Given the description of an element on the screen output the (x, y) to click on. 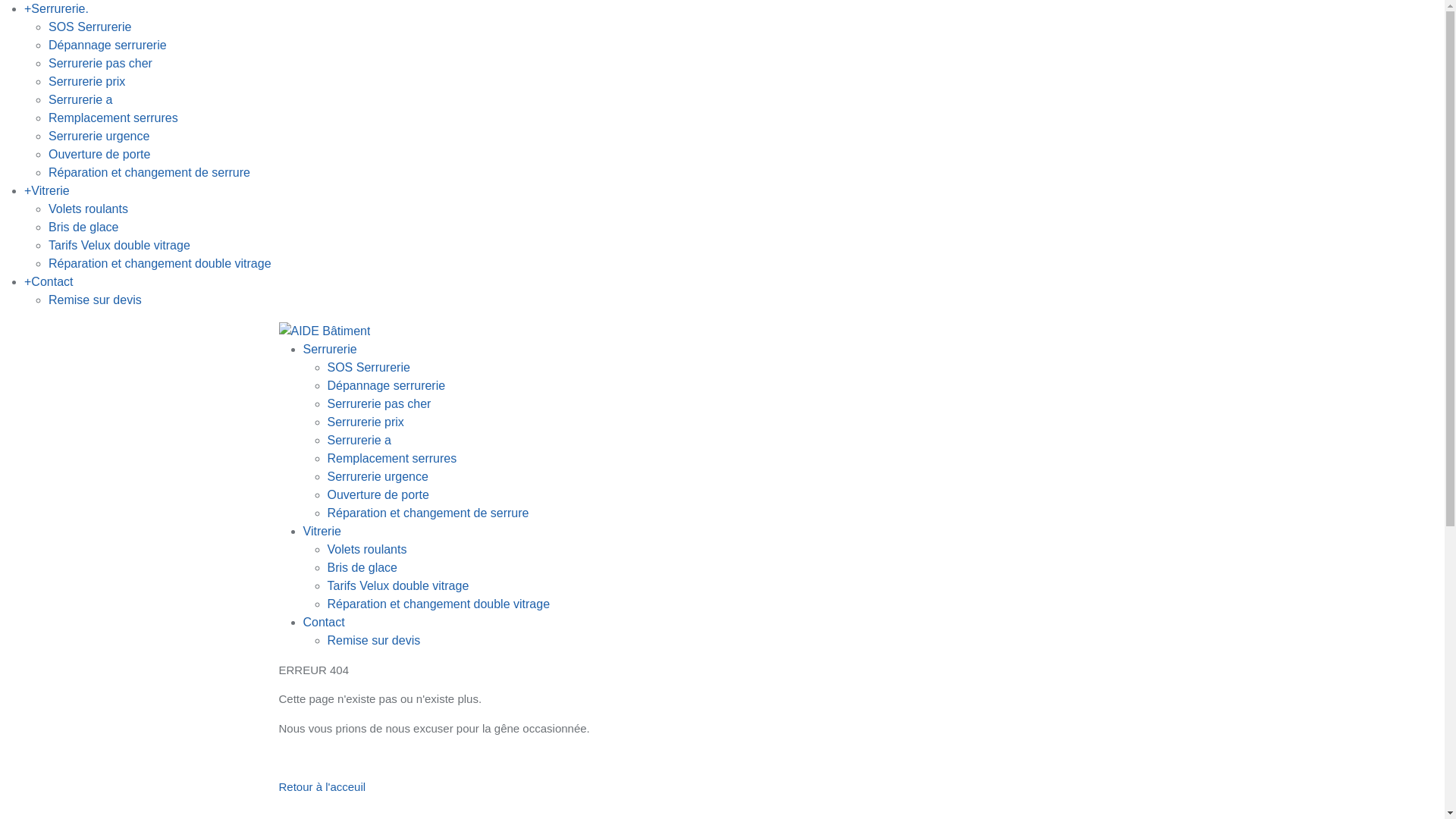
Volets roulants Element type: text (88, 208)
Tarifs Velux double vitrage Element type: text (398, 585)
Serrurerie pas cher Element type: text (379, 403)
Tarifs Velux double vitrage Element type: text (119, 244)
Volets roulants Element type: text (367, 548)
Remplacement serrures Element type: text (113, 117)
Serrurerie a Element type: text (80, 99)
Vitrerie Element type: text (322, 530)
+Serrurerie. Element type: text (56, 8)
Serrurerie prix Element type: text (365, 421)
Serrurerie urgence Element type: text (98, 135)
SOS Serrurerie Element type: text (89, 26)
Serrurerie urgence Element type: text (377, 476)
Bris de glace Element type: text (83, 226)
Serrurerie prix Element type: text (86, 81)
Remplacement serrures Element type: text (392, 457)
Contact Element type: text (324, 621)
Serrurerie a Element type: text (359, 439)
+Vitrerie Element type: text (46, 190)
Serrurerie Element type: text (330, 348)
Bris de glace Element type: text (362, 567)
Remise sur devis Element type: text (373, 639)
Serrurerie pas cher Element type: text (100, 62)
+Contact Element type: text (48, 281)
SOS Serrurerie Element type: text (368, 366)
Remise sur devis Element type: text (94, 299)
Ouverture de porte Element type: text (99, 153)
Ouverture de porte Element type: text (378, 494)
